Given the description of an element on the screen output the (x, y) to click on. 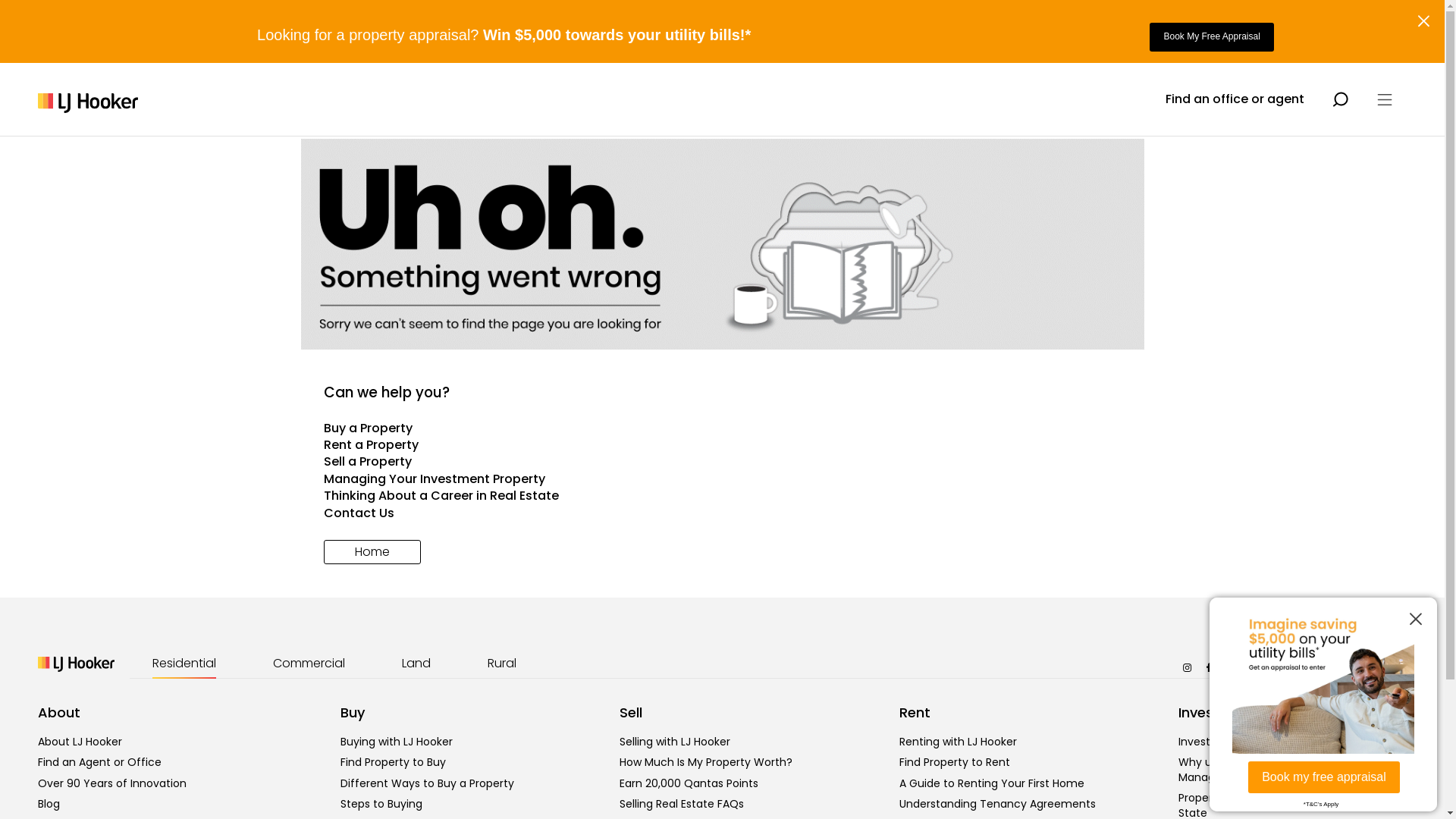
Selling with LJ Hooker Element type: text (674, 741)
Understanding Tenancy Agreements Element type: text (997, 803)
Rent a Property Element type: text (721, 444)
Land Element type: text (415, 663)
Managing Your Investment Property Element type: text (721, 478)
Blog Element type: text (48, 803)
Different Ways to Buy a Property Element type: text (427, 782)
Home Element type: text (371, 551)
Find Property to Rent Element type: text (954, 761)
About Element type: text (58, 711)
Contact Us Element type: text (721, 513)
Selling Real Estate FAQs Element type: text (681, 803)
Rural Element type: text (501, 663)
How Much Is My Property Worth? Element type: text (705, 761)
Find an office or agent Element type: text (1234, 99)
Rent Element type: text (914, 711)
Renting with LJ Hooker Element type: text (957, 741)
Over 90 Years of Innovation Element type: text (111, 782)
Buying with LJ Hooker Element type: text (396, 741)
Invest Element type: text (1198, 711)
Investing with LJ Hooker Element type: text (1240, 741)
Residential Element type: text (184, 663)
Commercial Element type: text (309, 663)
Steps to Buying Element type: text (381, 803)
Buy Element type: text (352, 711)
Sell Element type: text (630, 711)
About LJ Hooker Element type: text (79, 741)
Sell a Property Element type: text (721, 461)
Why use LJ Hooker Property Management Element type: text (1251, 769)
Buy a Property Element type: text (721, 428)
A Guide to Renting Your First Home Element type: text (991, 782)
Earn 20,000 Qantas Points Element type: text (688, 782)
Find Property to Buy Element type: text (392, 761)
Find an Agent or Office Element type: text (99, 761)
Thinking About a Career in Real Estate Element type: text (721, 495)
